Given the description of an element on the screen output the (x, y) to click on. 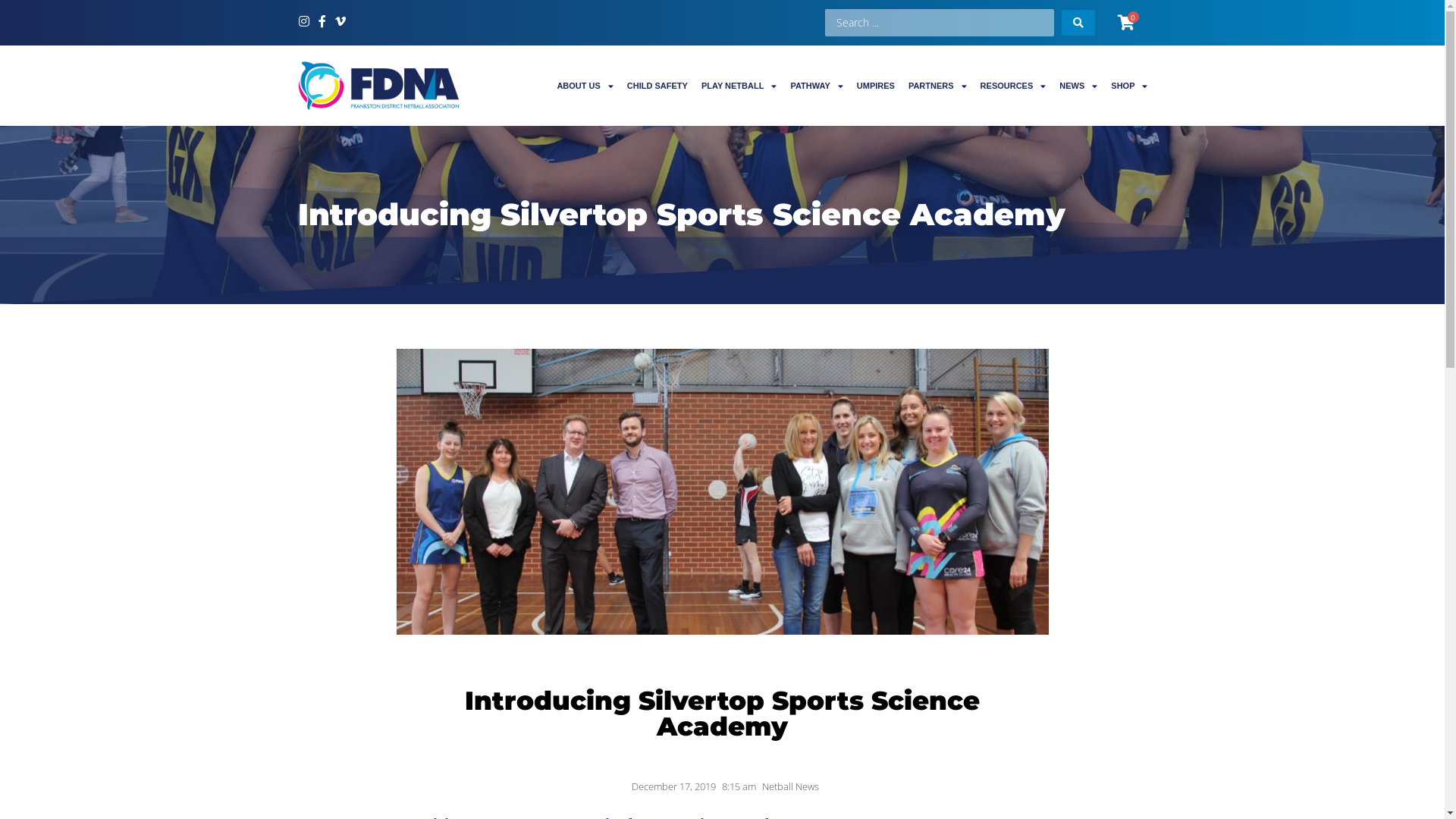
Facebook-f Element type: text (321, 21)
RESOURCES Element type: text (1013, 85)
Vimeo-v Element type: text (339, 21)
PLAY NETBALL Element type: text (739, 85)
PARTNERS Element type: text (937, 85)
CHILD SAFETY Element type: text (657, 85)
UMPIRES Element type: text (875, 85)
Instagram Element type: text (303, 21)
SHOP Element type: text (1129, 85)
Social Media Photo Element type: hover (721, 491)
0 Element type: text (1126, 22)
Netball News Element type: text (790, 786)
ABOUT US Element type: text (584, 85)
December 17, 2019 Element type: text (670, 786)
PATHWAY Element type: text (816, 85)
NEWS Element type: text (1078, 85)
